Given the description of an element on the screen output the (x, y) to click on. 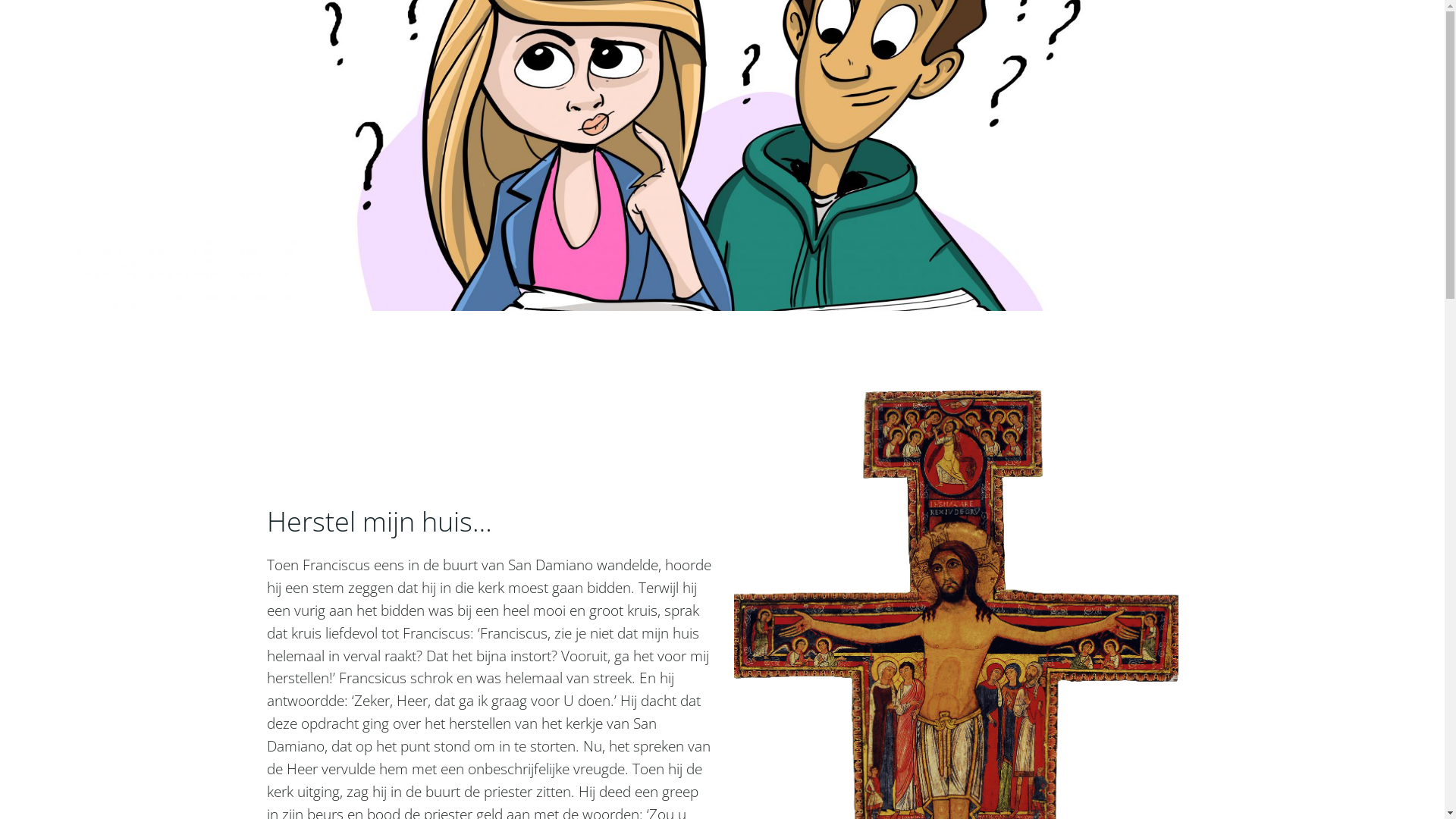
Colibri Element type: text (881, 773)
